Given the description of an element on the screen output the (x, y) to click on. 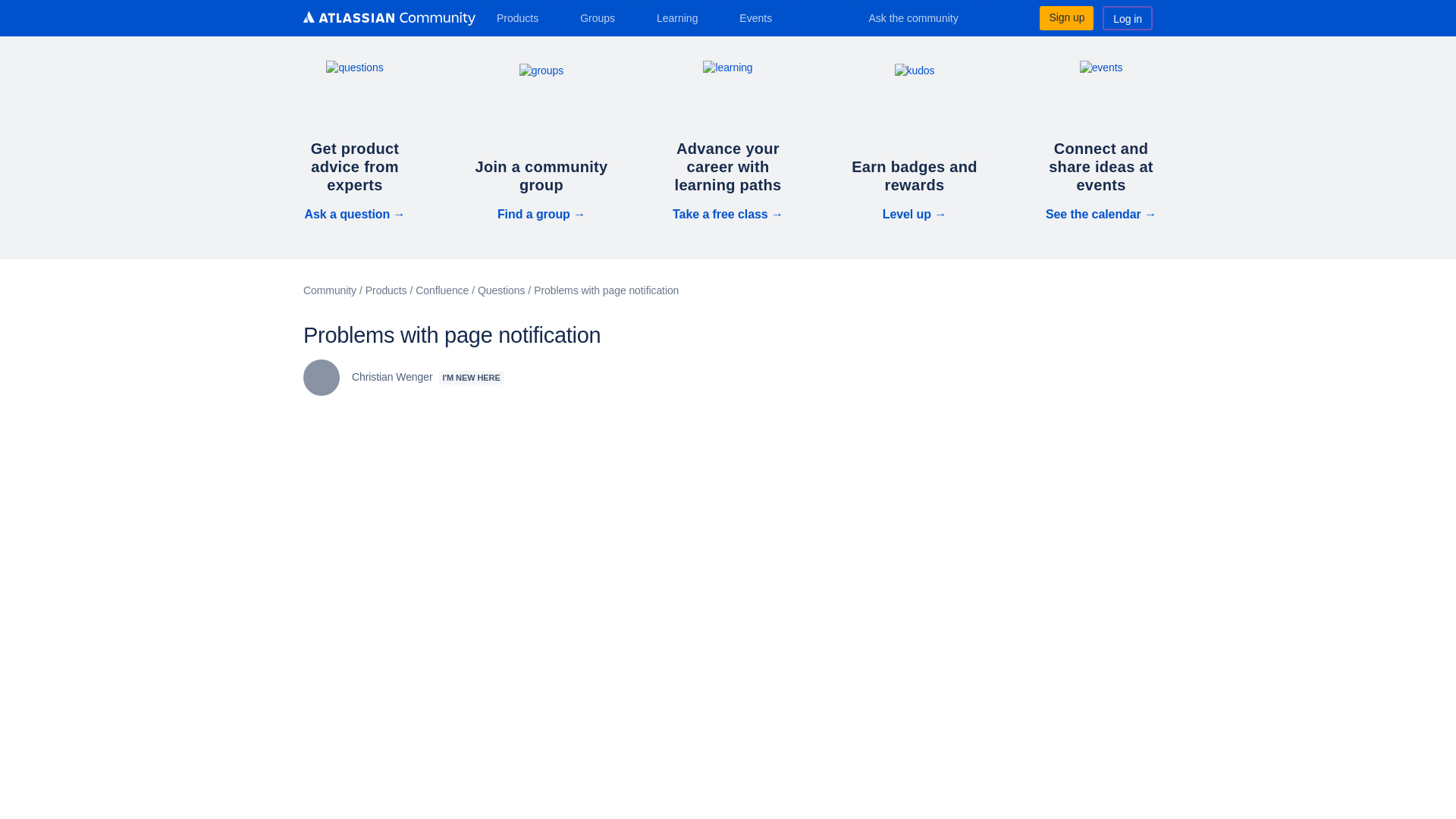
Groups (602, 17)
Sign up (1066, 17)
Christian Wenger (320, 377)
Ask the community  (923, 17)
Events (761, 17)
Products (523, 17)
Learning (682, 17)
Atlassian Community logo (389, 19)
Log in (1127, 17)
Atlassian Community logo (389, 18)
